Given the description of an element on the screen output the (x, y) to click on. 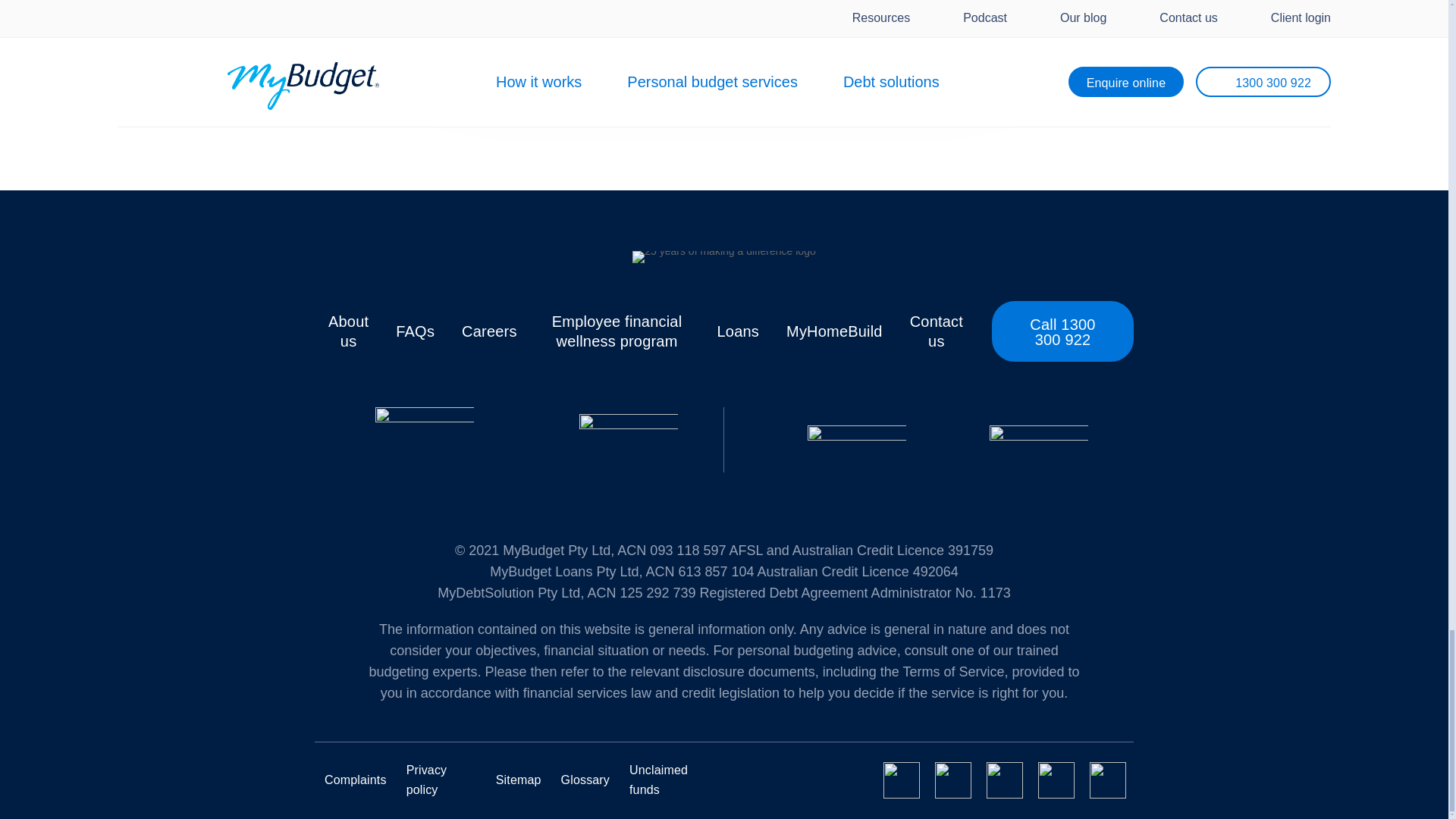
25-years-making-a-difference-logo (723, 256)
my-budget-google-play-store (1038, 439)
my-budget-apple-app-store (856, 439)
More FAQs (841, 102)
About us (348, 330)
my-budget-trustpilot (628, 440)
my-budget-product-review (423, 439)
